Given the description of an element on the screen output the (x, y) to click on. 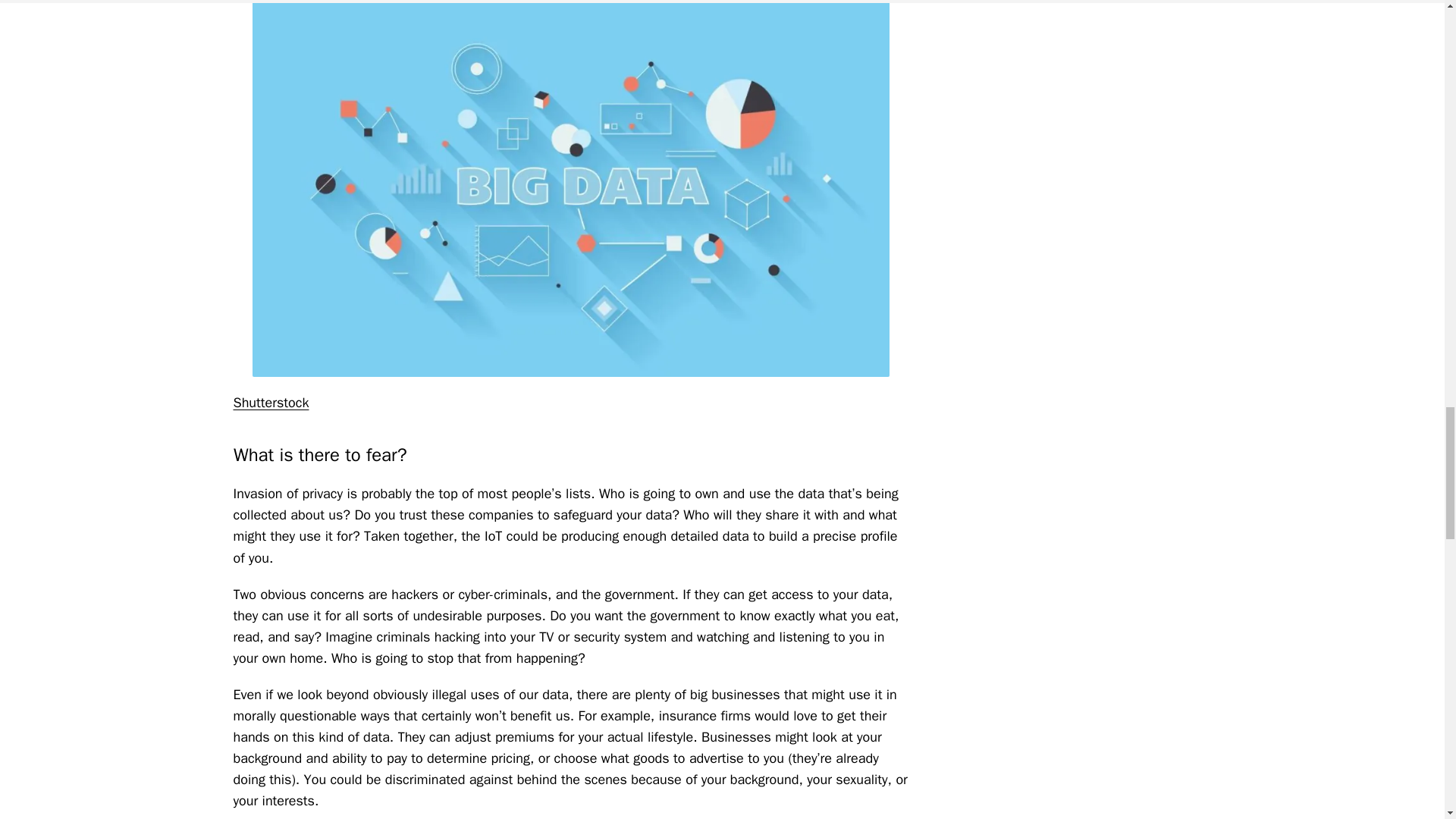
Shutterstock (270, 402)
